Given the description of an element on the screen output the (x, y) to click on. 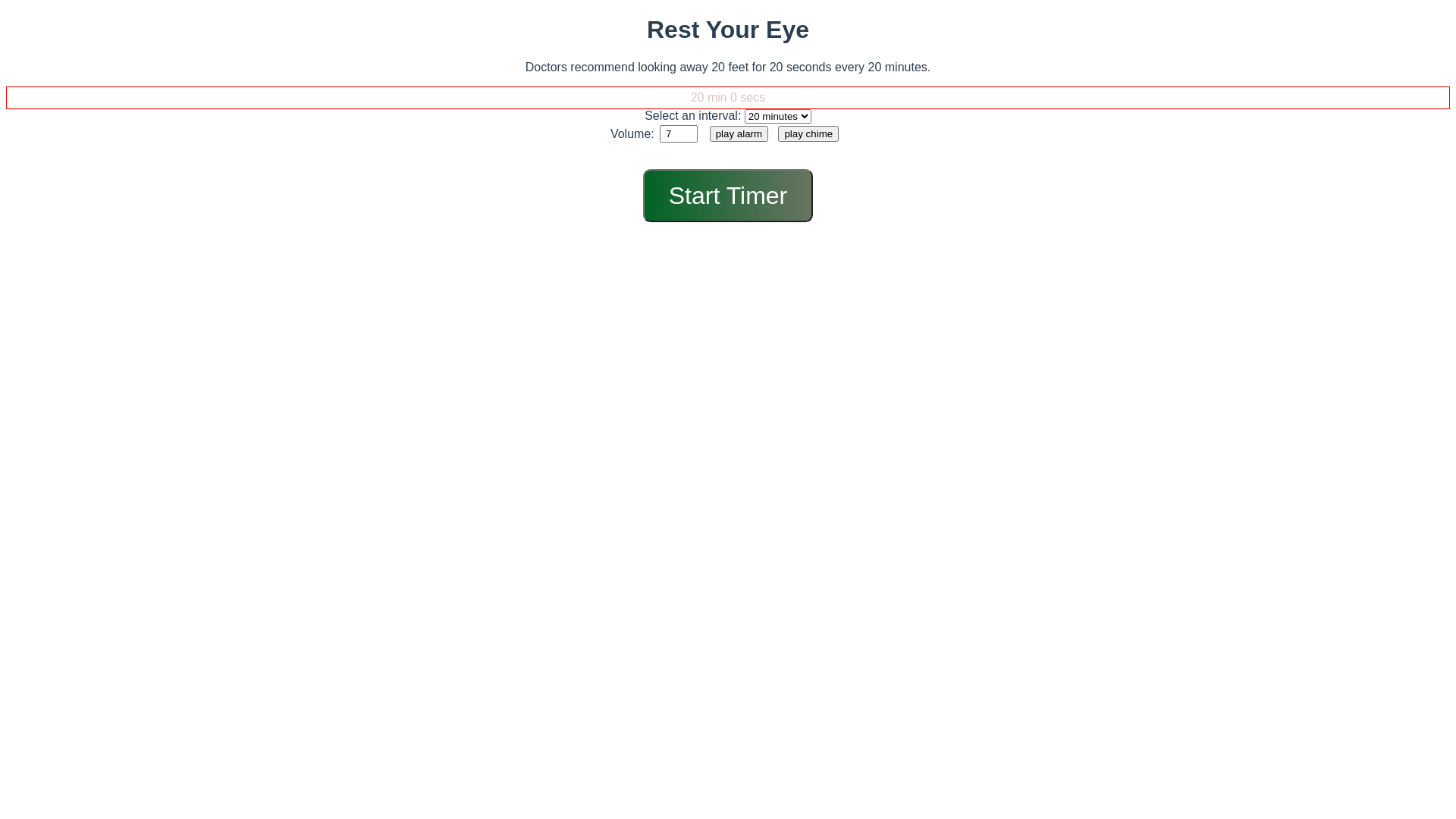
play chime Element type: text (808, 133)
play alarm Element type: text (738, 133)
Start Timer Element type: text (727, 195)
